Given the description of an element on the screen output the (x, y) to click on. 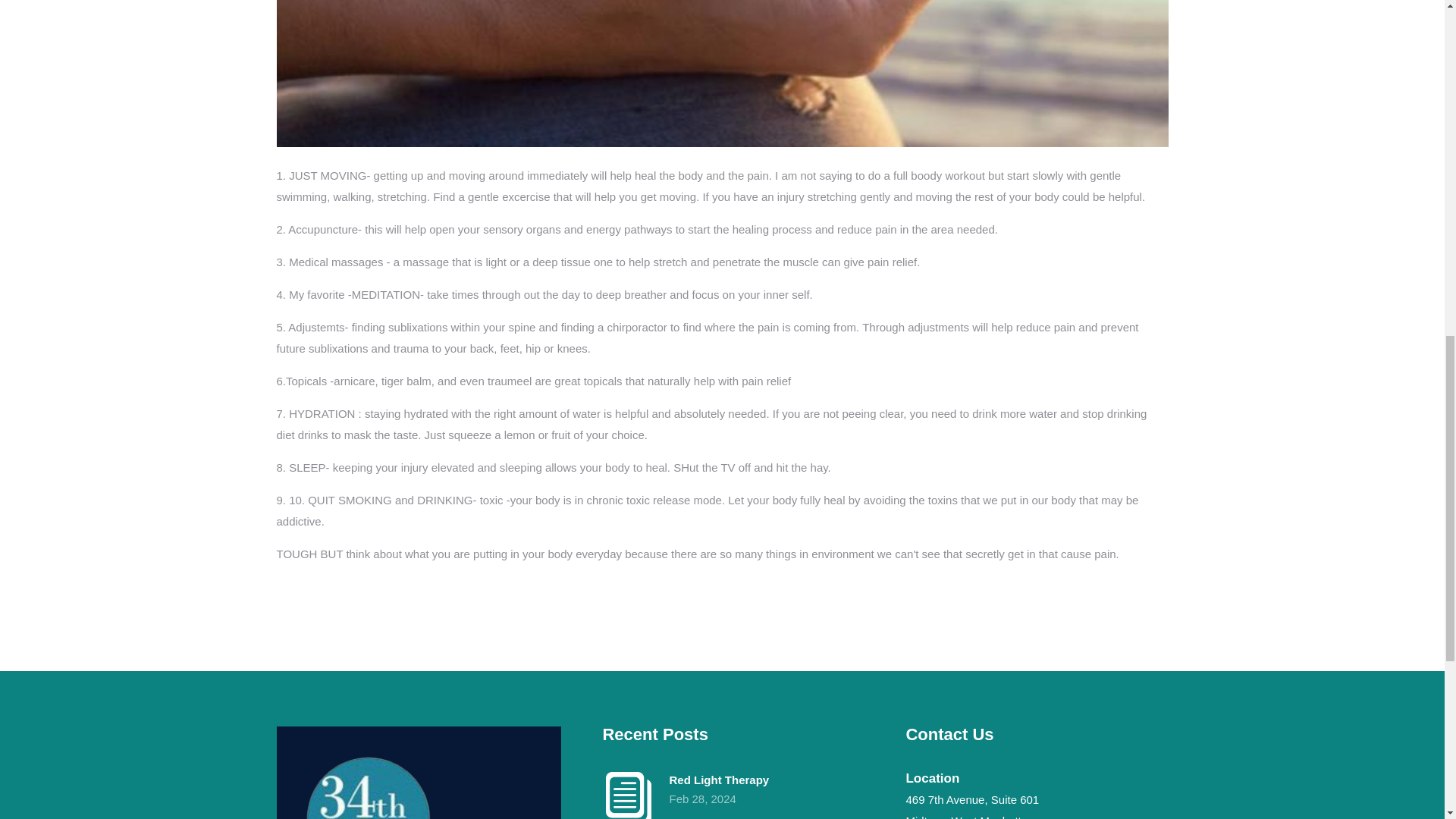
Red Light Therapy (733, 780)
